Given the description of an element on the screen output the (x, y) to click on. 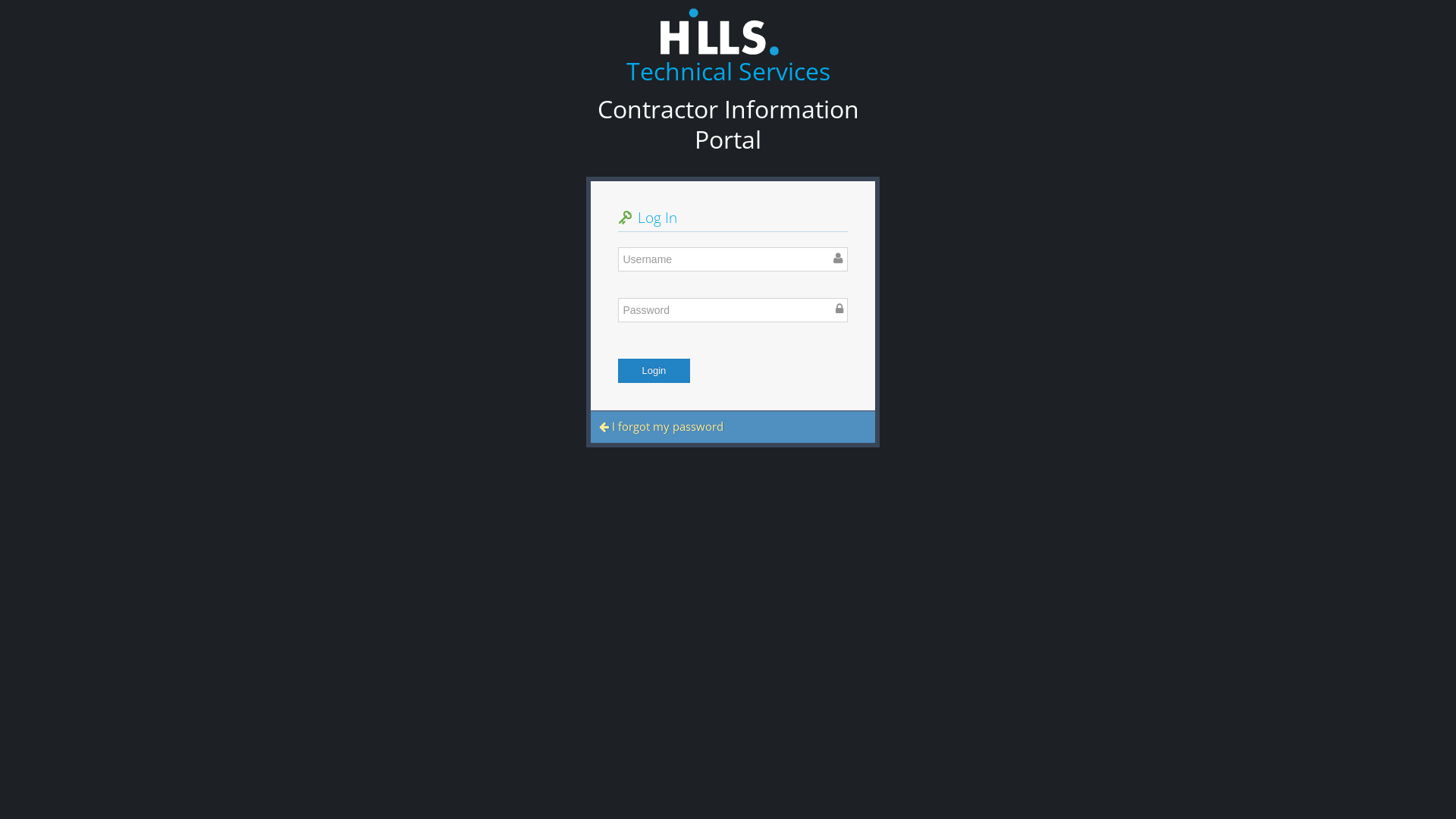
Login Element type: text (653, 370)
I forgot my password Element type: text (661, 425)
